Given the description of an element on the screen output the (x, y) to click on. 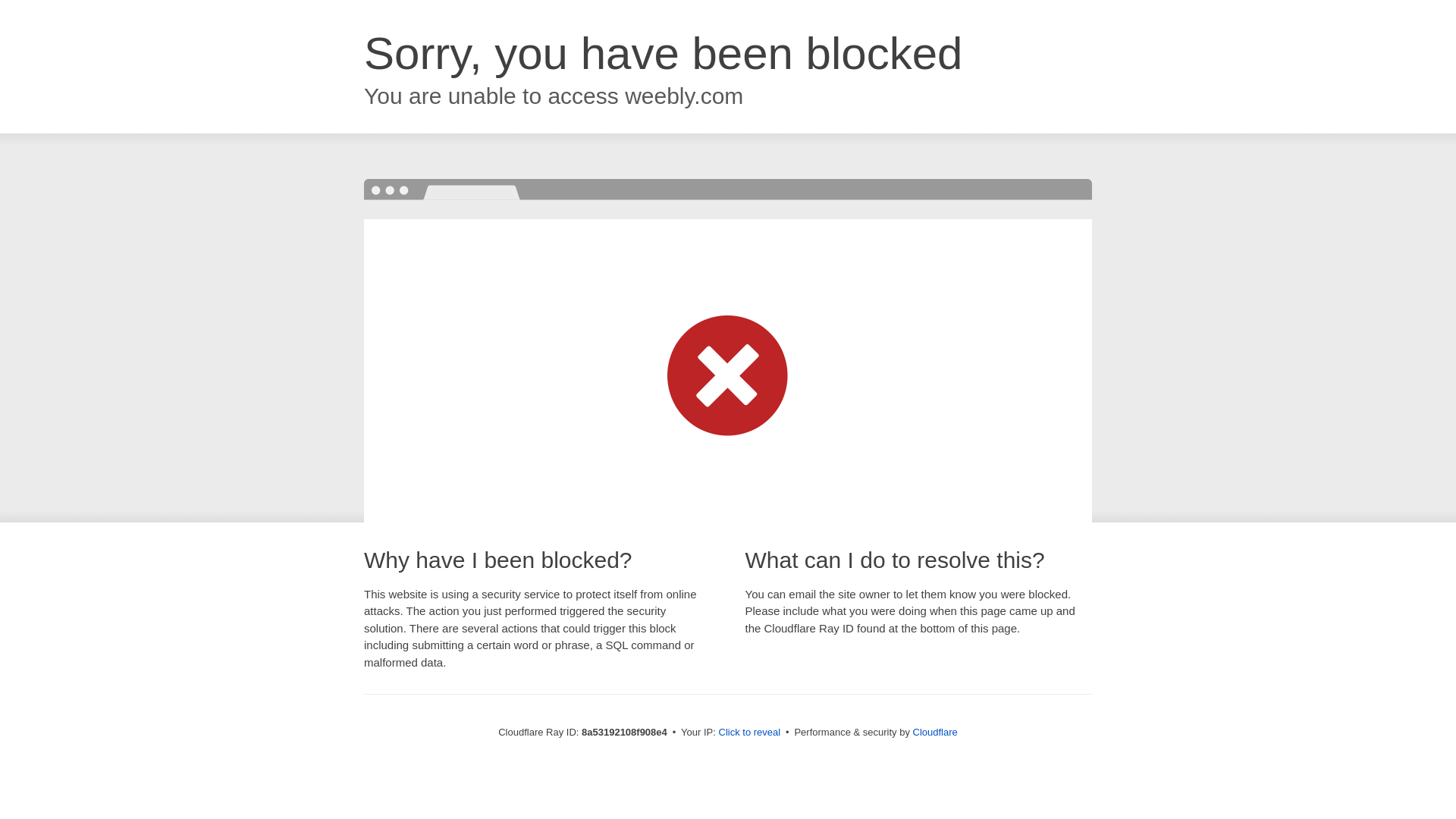
Cloudflare (935, 731)
Click to reveal (749, 732)
